Given the description of an element on the screen output the (x, y) to click on. 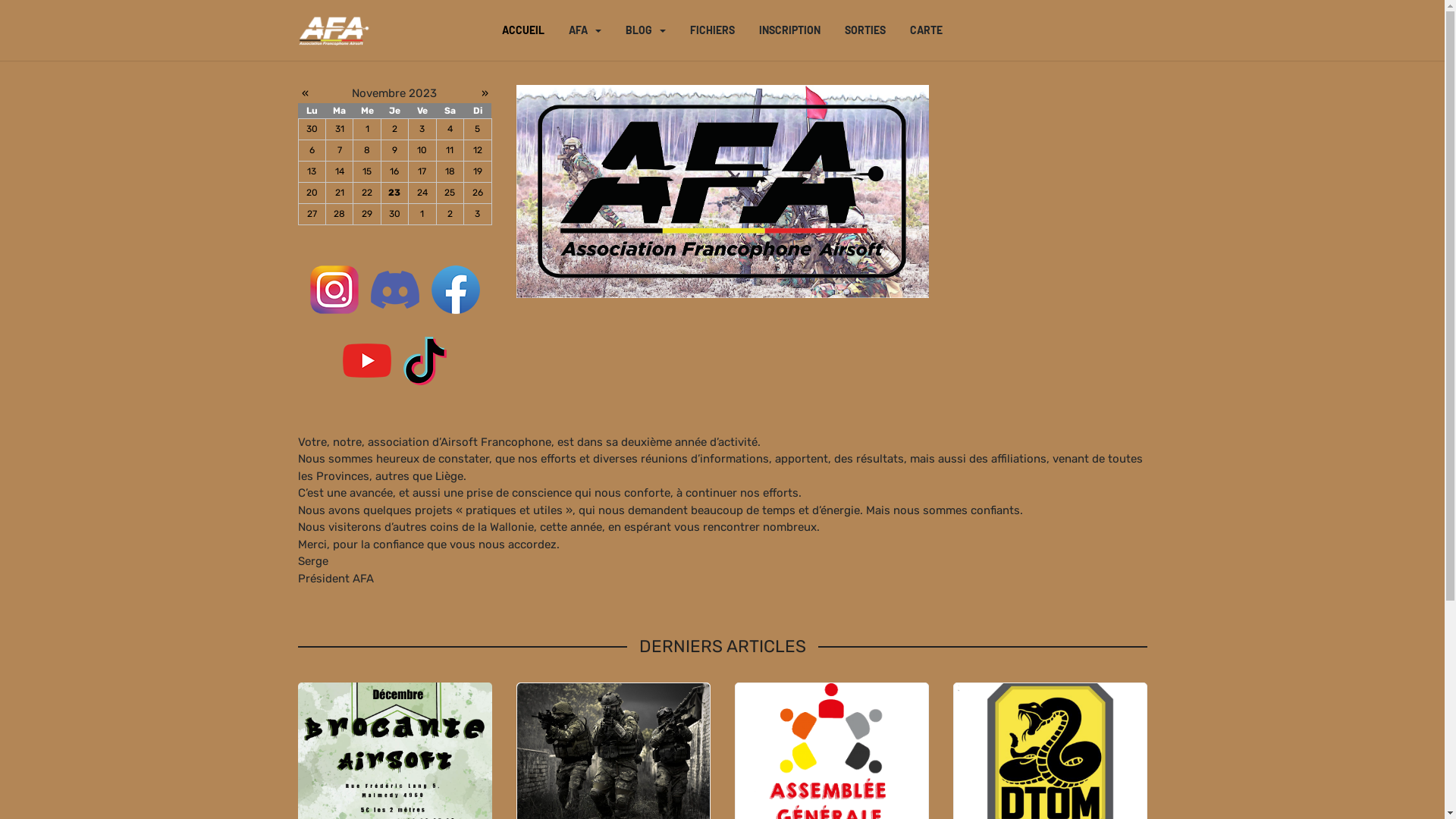
18 Element type: text (450, 171)
24 Element type: text (422, 192)
7 Element type: text (339, 150)
11 Element type: text (449, 150)
22 Element type: text (366, 192)
3 Element type: text (421, 129)
21 Element type: text (339, 192)
23 Element type: text (394, 192)
FICHIERS Element type: text (712, 30)
26 Element type: text (477, 192)
8 Element type: text (367, 150)
2 Element type: text (394, 129)
5 Element type: text (477, 129)
13 Element type: text (311, 171)
SORTIES Element type: text (864, 30)
27 Element type: text (311, 213)
30 Element type: text (394, 213)
1 Element type: text (367, 129)
1 Element type: text (421, 213)
31 Element type: text (339, 129)
25 Element type: text (449, 192)
9 Element type: text (394, 150)
3 Element type: text (477, 213)
17 Element type: text (421, 171)
10 Element type: text (421, 150)
2 Element type: text (449, 213)
20 Element type: text (311, 192)
Association Francophone Airsoft Element type: hover (334, 30)
4 Element type: text (449, 129)
28 Element type: text (339, 213)
6 Element type: text (311, 150)
16 Element type: text (393, 171)
AFA Element type: text (584, 30)
19 Element type: text (477, 171)
30 Element type: text (311, 129)
15 Element type: text (366, 171)
ACCUEIL Element type: text (523, 30)
14 Element type: text (339, 171)
29 Element type: text (366, 213)
BLOG Element type: text (645, 30)
12 Element type: text (477, 150)
INSCRIPTION Element type: text (789, 30)
CARTE Element type: text (926, 30)
